Given the description of an element on the screen output the (x, y) to click on. 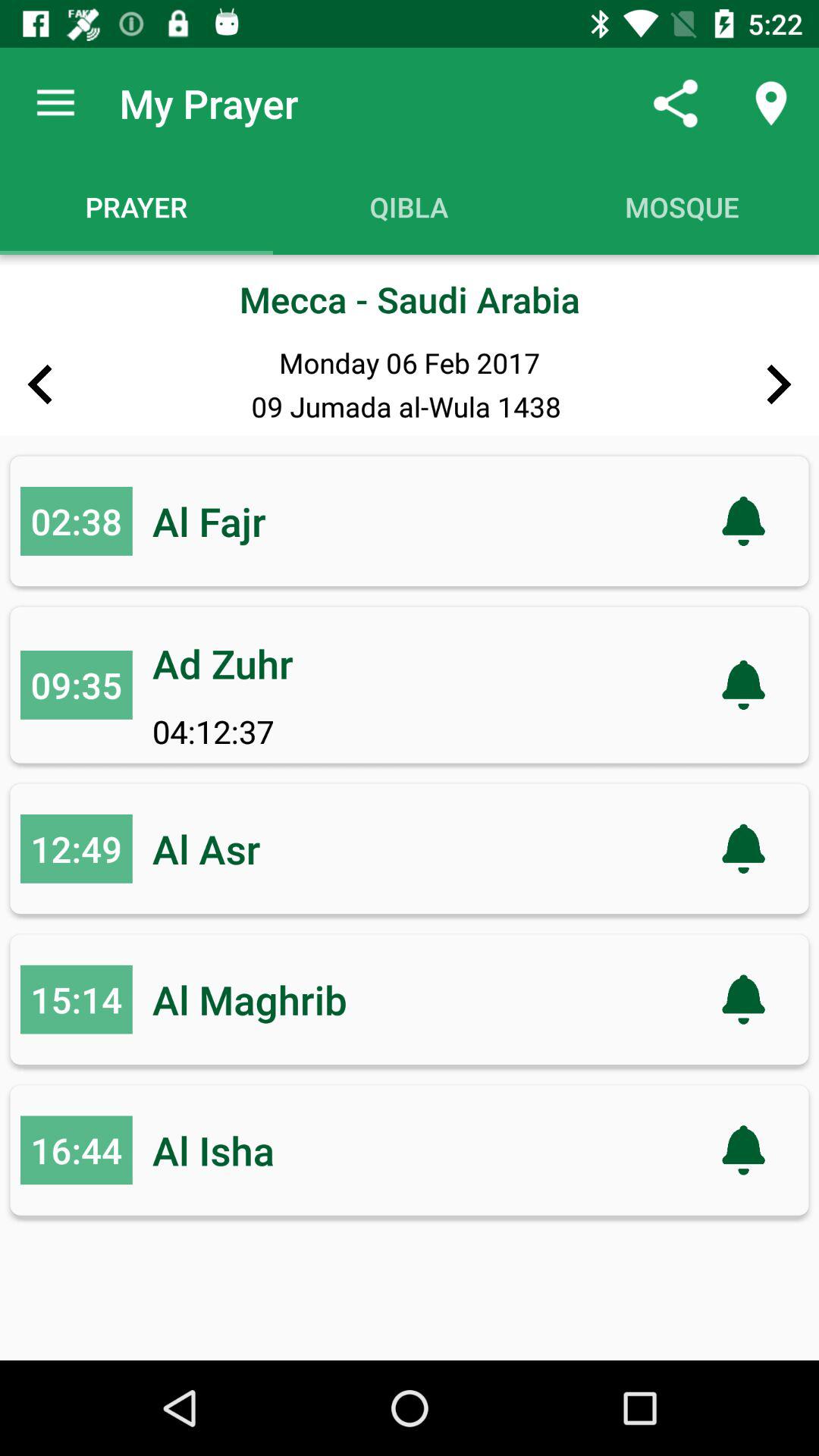
turn on the item to the left of al isha (76, 1149)
